Given the description of an element on the screen output the (x, y) to click on. 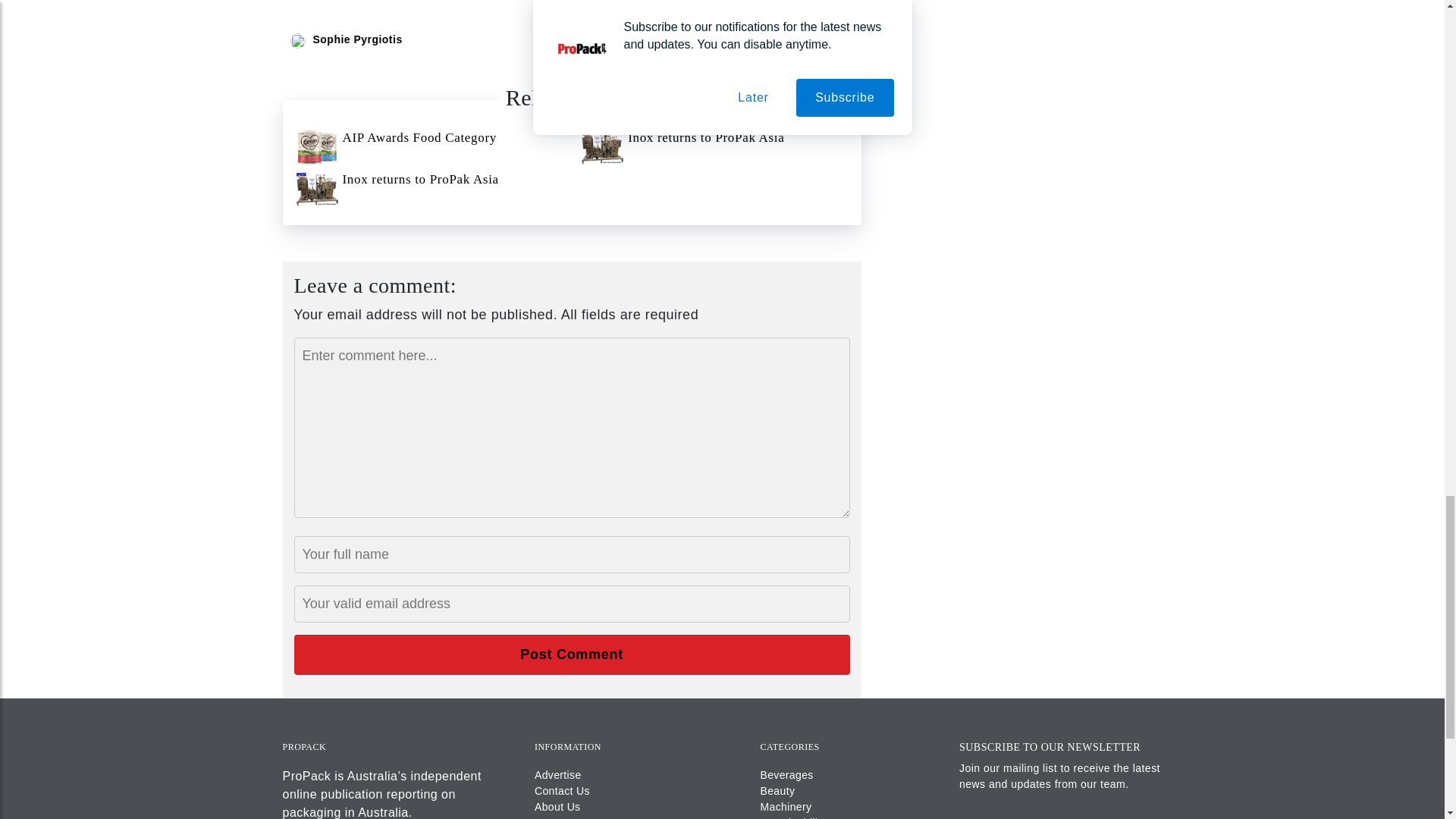
Sophie Pyrgiotis (357, 39)
Advertise (557, 775)
Inox returns to ProPak Asia (429, 188)
Contact Us (561, 790)
Inox returns to ProPak Asia (714, 147)
Post Comment (572, 654)
AIP Awards Food Category (429, 147)
About Us (556, 806)
Post Comment (572, 654)
